Given the description of an element on the screen output the (x, y) to click on. 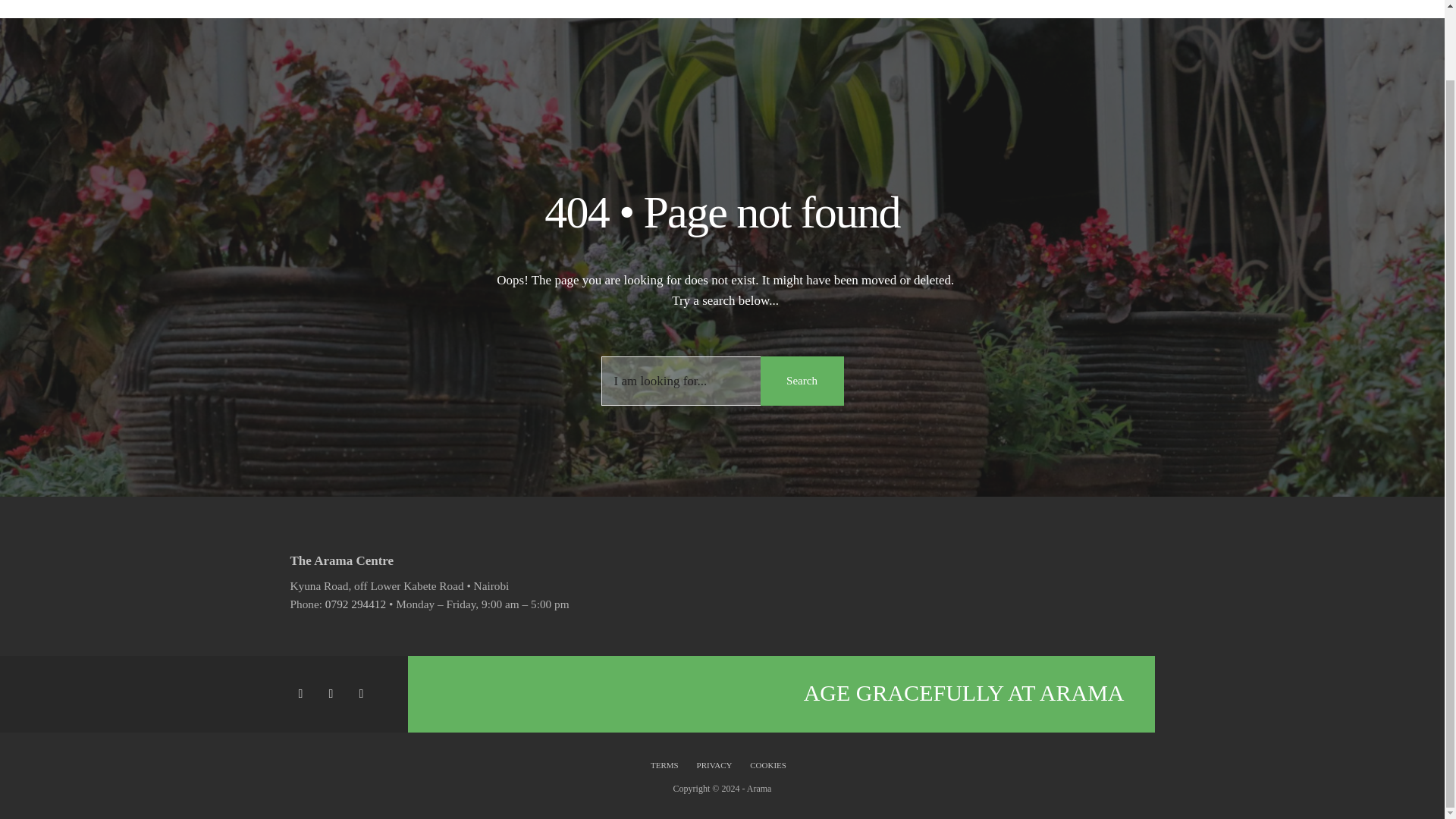
Twitter (333, 693)
PRIVACY (713, 764)
Facebook (302, 693)
COOKIES (767, 764)
0792 294412 (354, 603)
Search (801, 380)
TERMS (667, 764)
Instagram (363, 693)
I am looking for... (721, 380)
